Given the description of an element on the screen output the (x, y) to click on. 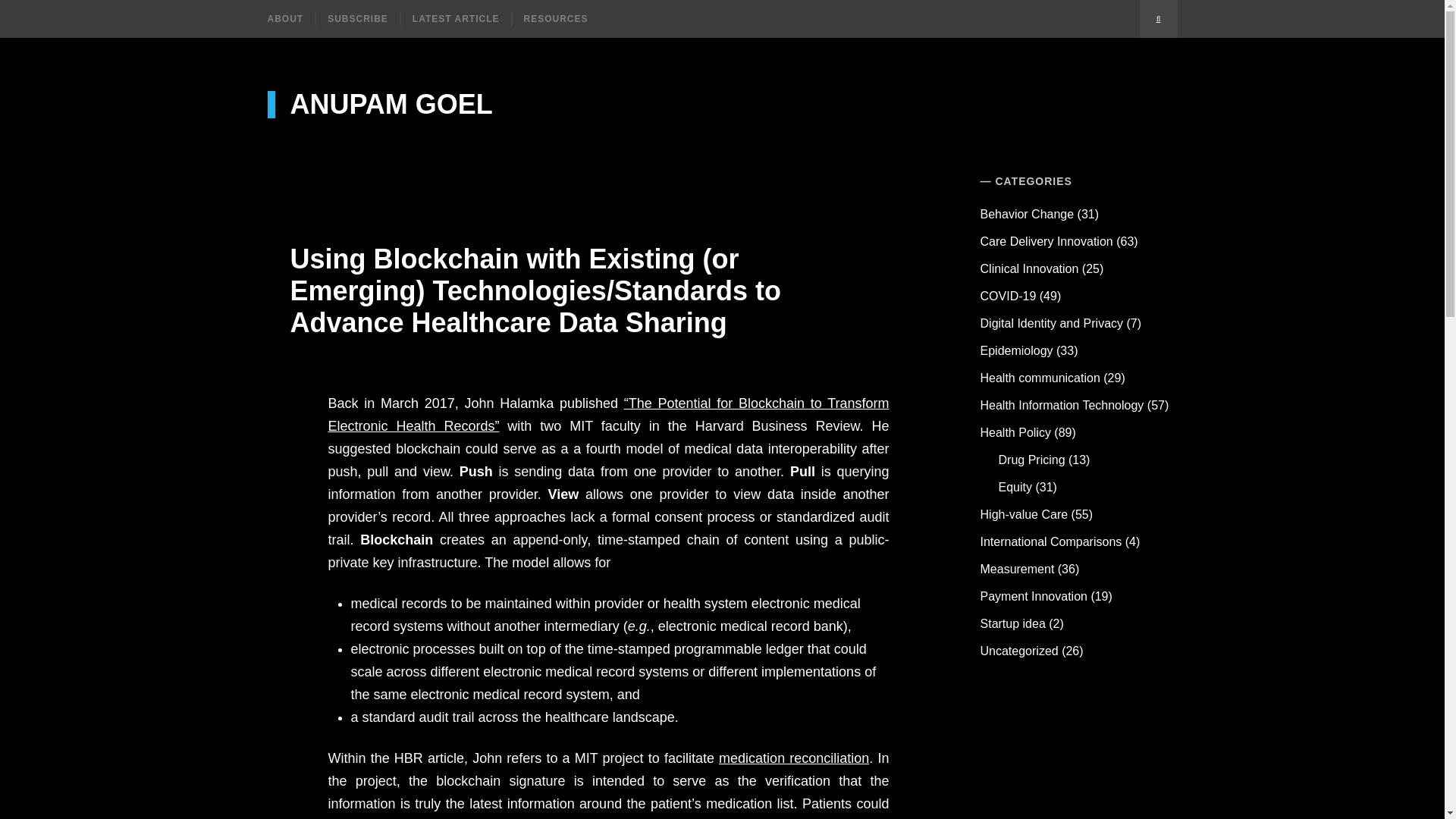
ANUPAM GOEL (379, 103)
Behavior Change (1026, 214)
Care Delivery Innovation (1046, 241)
SUBSCRIBE (356, 18)
Startup idea (1012, 623)
Payment Innovation (1033, 595)
LATEST ARTICLE (454, 18)
Clinical Innovation (1028, 268)
medication reconciliation (794, 758)
International Comparisons (1050, 541)
Search (1157, 18)
Equity (1015, 486)
Health Policy (1015, 431)
Health Information Technology (1061, 404)
RESOURCES (555, 18)
